Given the description of an element on the screen output the (x, y) to click on. 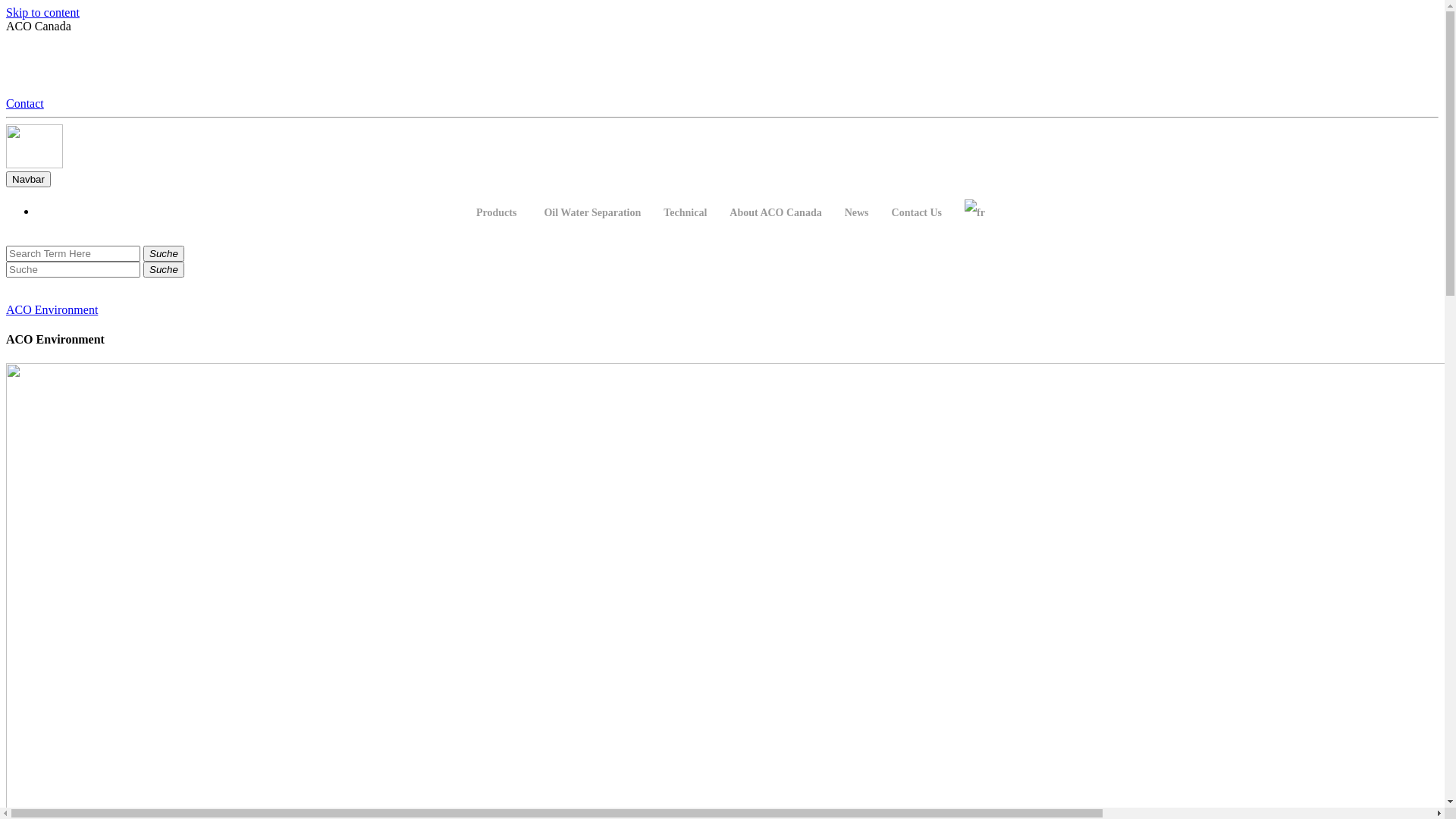
Suche Element type: text (163, 269)
Suche Element type: text (163, 253)
Contact Us Element type: text (917, 212)
News Element type: text (856, 212)
Corporate Element type: hover (34, 146)
Contact Element type: text (24, 103)
Skip to content Element type: text (42, 12)
ACO Environment Element type: text (51, 309)
Products Element type: text (498, 212)
Navbar Element type: text (28, 179)
ACO Corporate Element type: hover (34, 163)
Technical Element type: text (684, 212)
About ACO Canada Element type: text (774, 212)
Oil Water Separation Element type: text (592, 212)
